Given the description of an element on the screen output the (x, y) to click on. 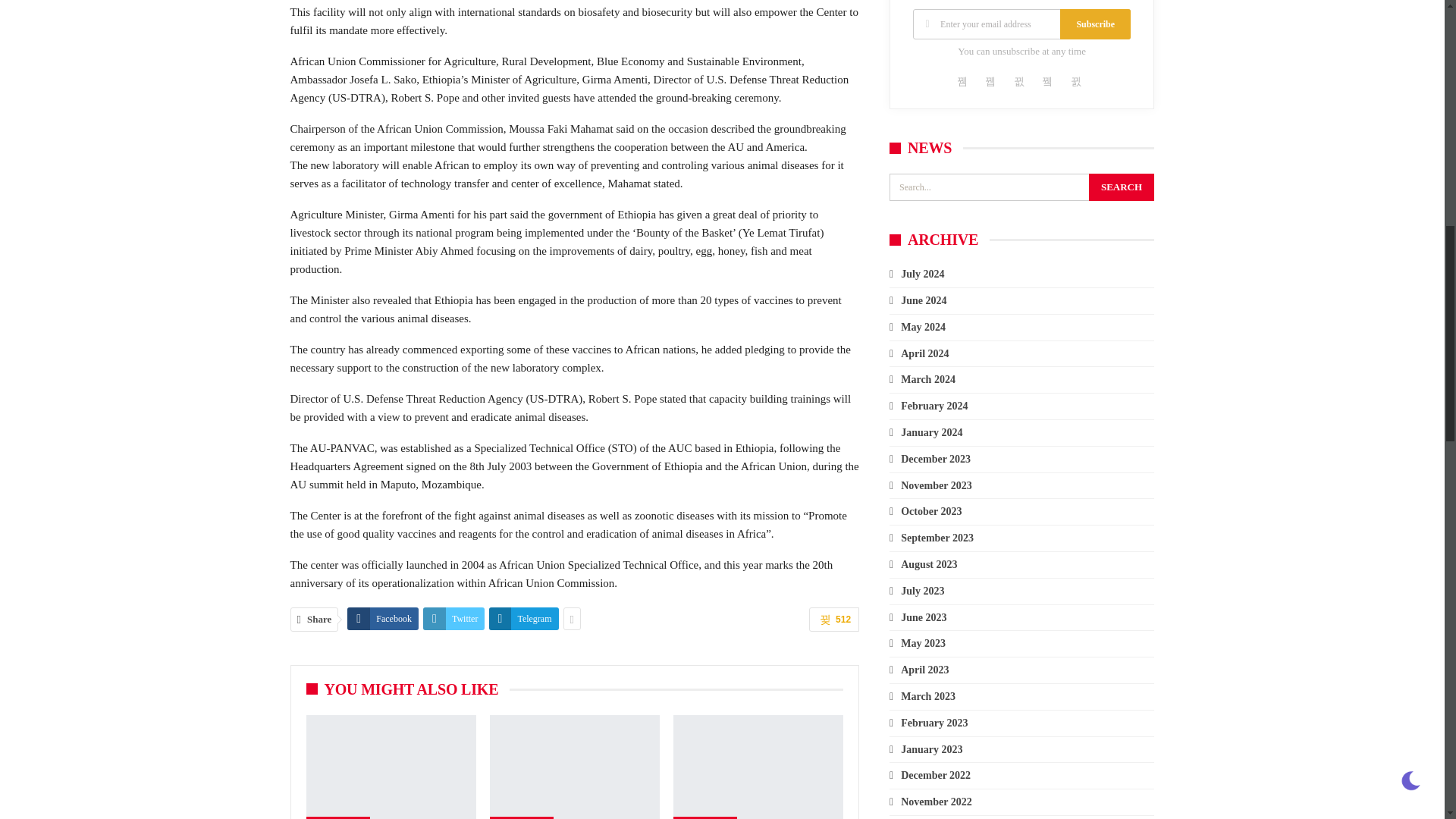
Search (1121, 186)
Search (1121, 186)
